Given the description of an element on the screen output the (x, y) to click on. 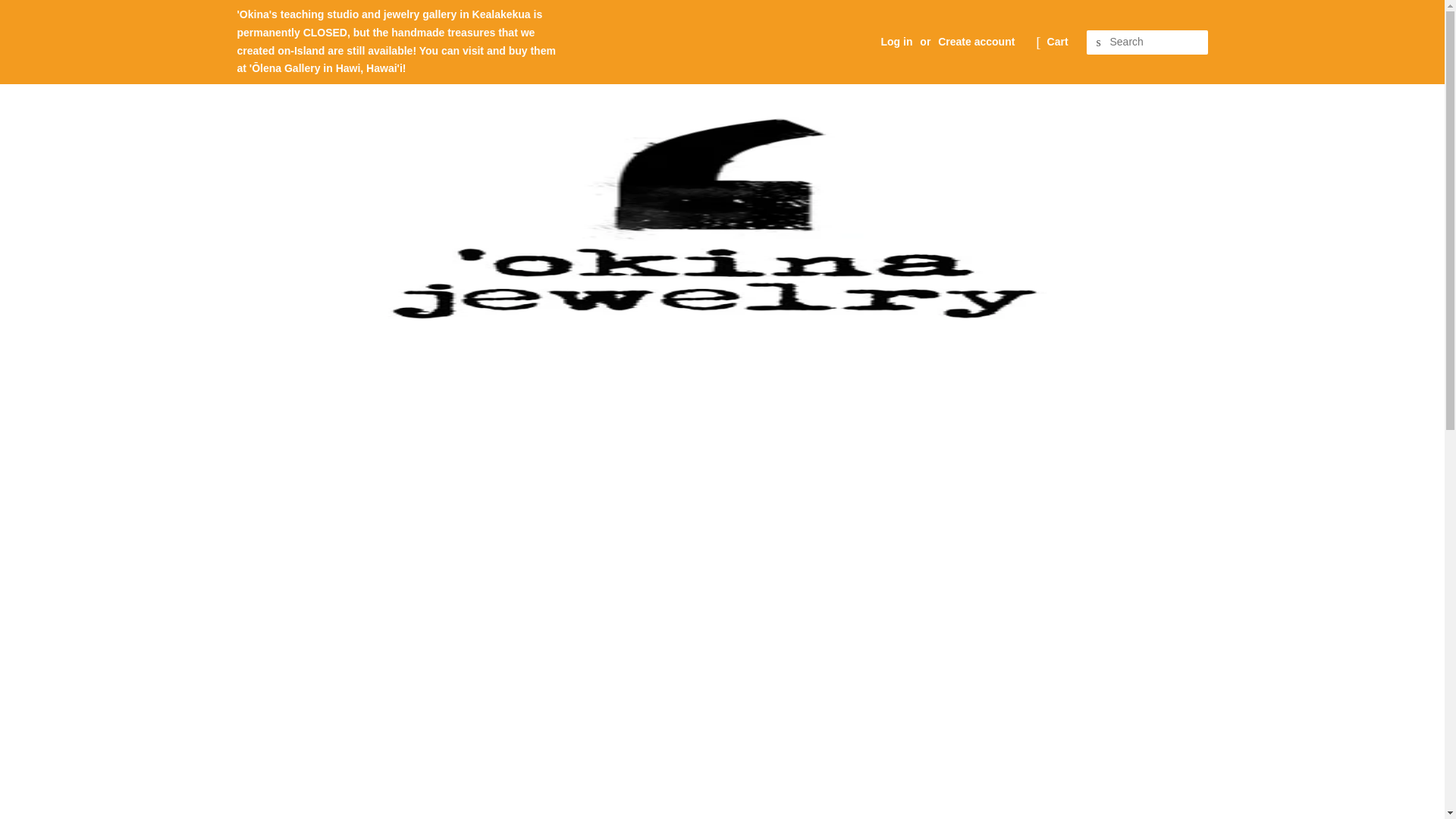
Search (1097, 42)
Log in (896, 41)
Create account (975, 41)
Cart (1057, 42)
